Given the description of an element on the screen output the (x, y) to click on. 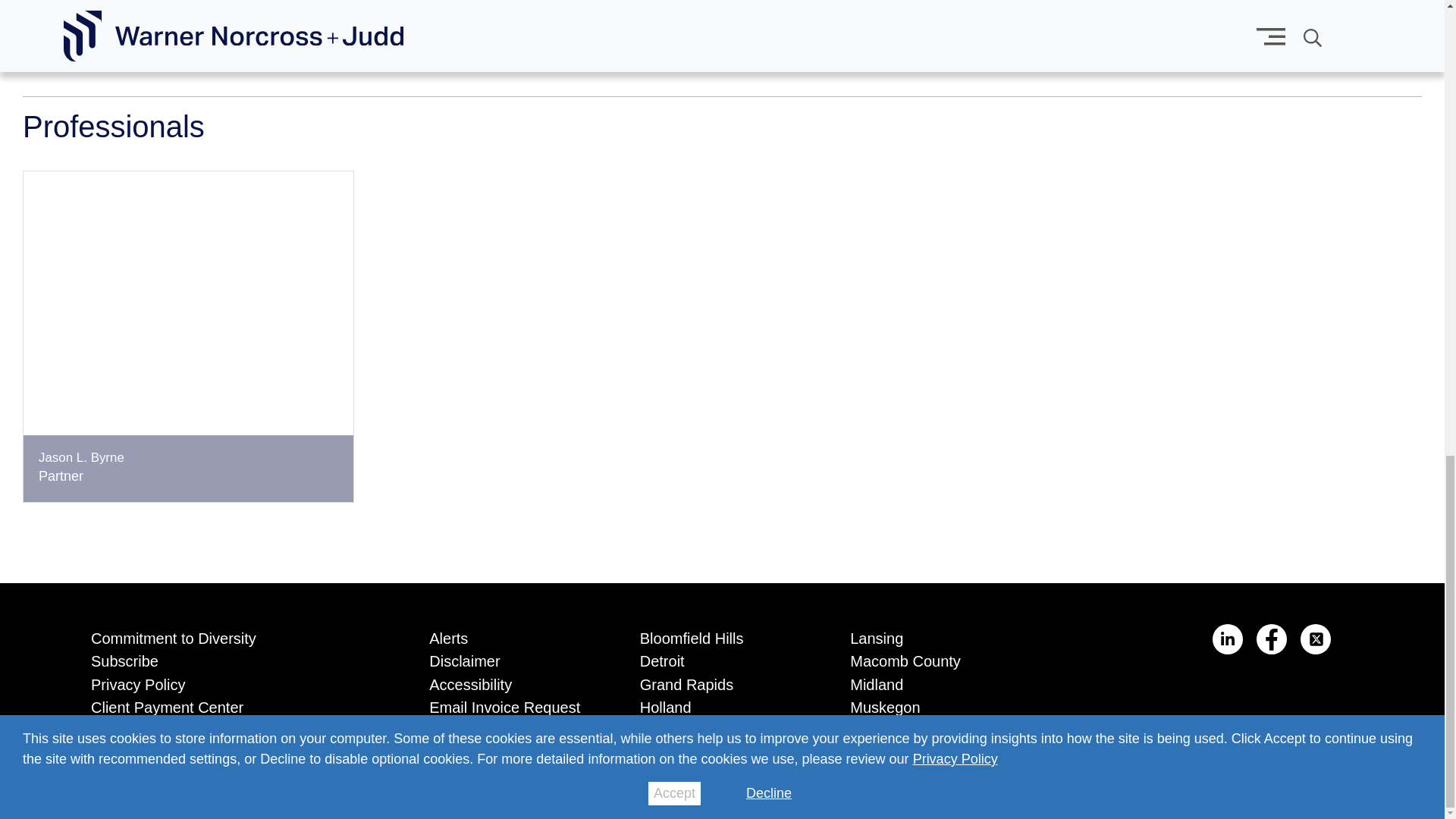
Grand Rapids (722, 681)
Site By Content Pilot (1341, 785)
Alerts (511, 635)
Privacy Policy (237, 681)
Jason L. Byrne (81, 457)
Holland (722, 704)
Twitter (1315, 639)
Client Payment Center (237, 704)
Commitment to Diversity (237, 635)
Facebook (1271, 639)
